Given the description of an element on the screen output the (x, y) to click on. 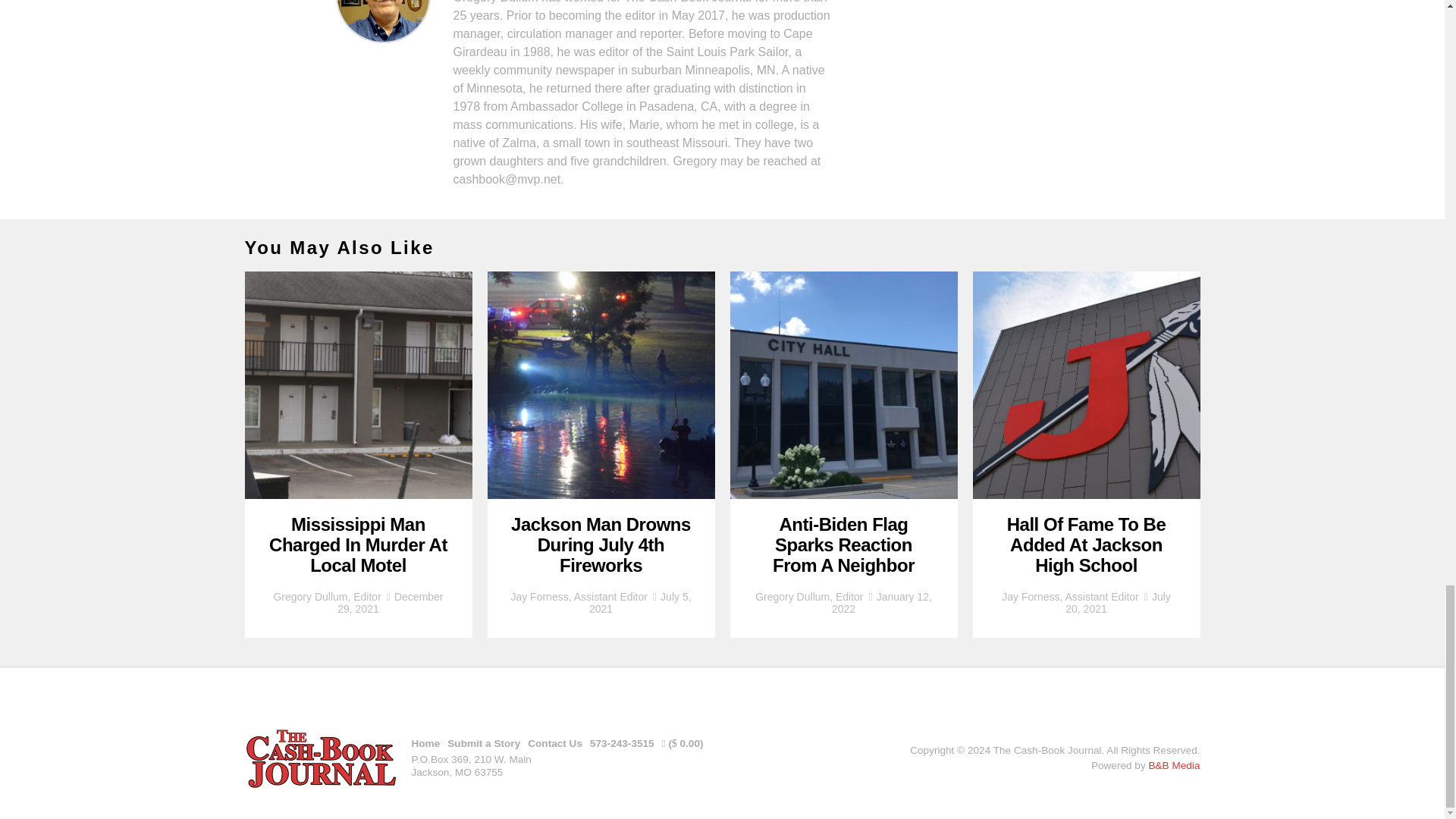
Posts by Jay Forness, Assistant Editor (579, 596)
Posts by Gregory Dullum, Editor (326, 596)
Posts by Gregory Dullum, Editor (809, 596)
